Given the description of an element on the screen output the (x, y) to click on. 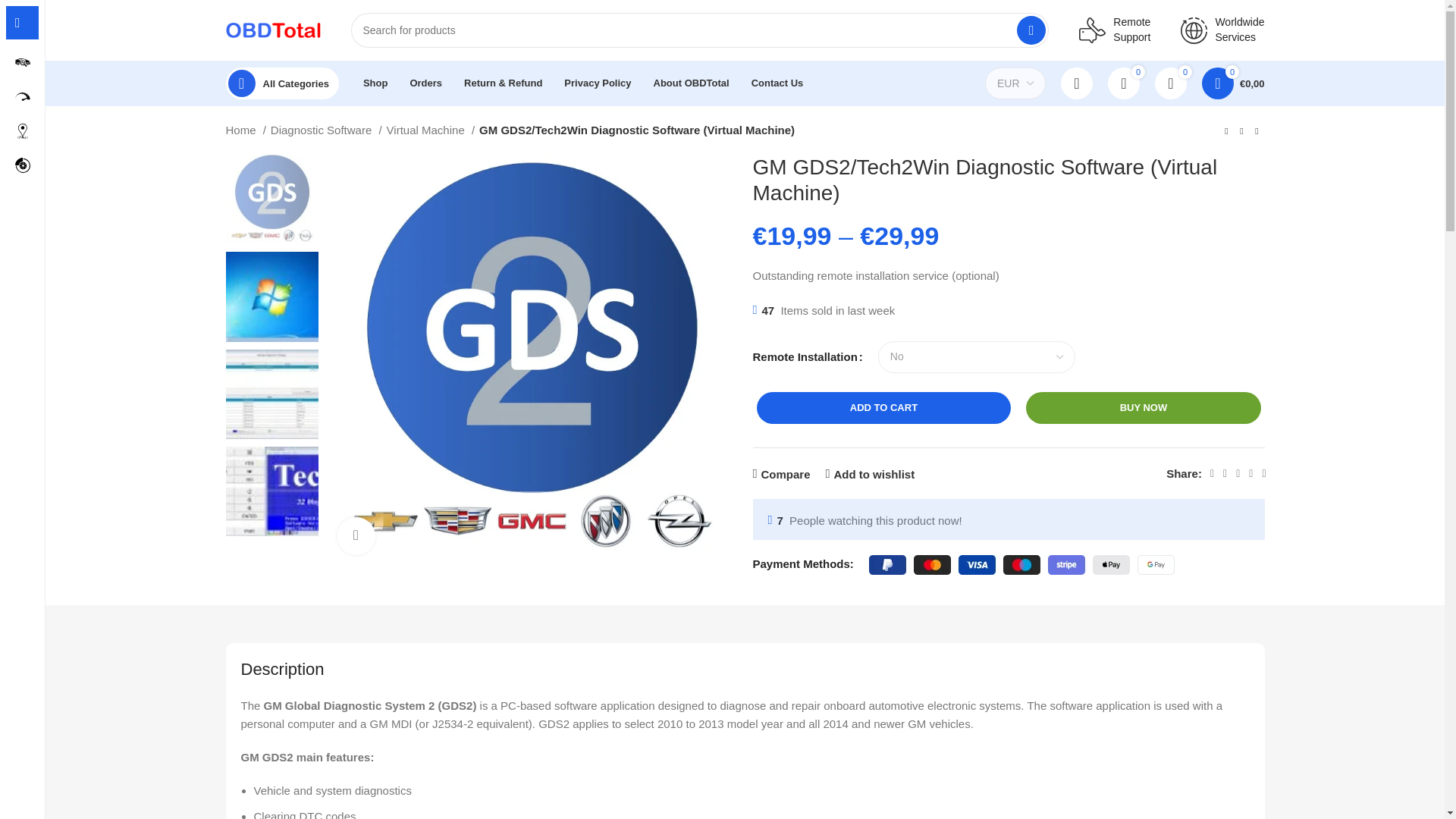
Diagnostic Software (325, 130)
Shop (375, 82)
Shopping cart (1232, 82)
SEARCH (1030, 30)
Diagnostic Software (22, 61)
My account (1076, 82)
About OBDTotal (691, 82)
Privacy Policy (597, 82)
support (1091, 29)
Contact Us (777, 82)
